Given the description of an element on the screen output the (x, y) to click on. 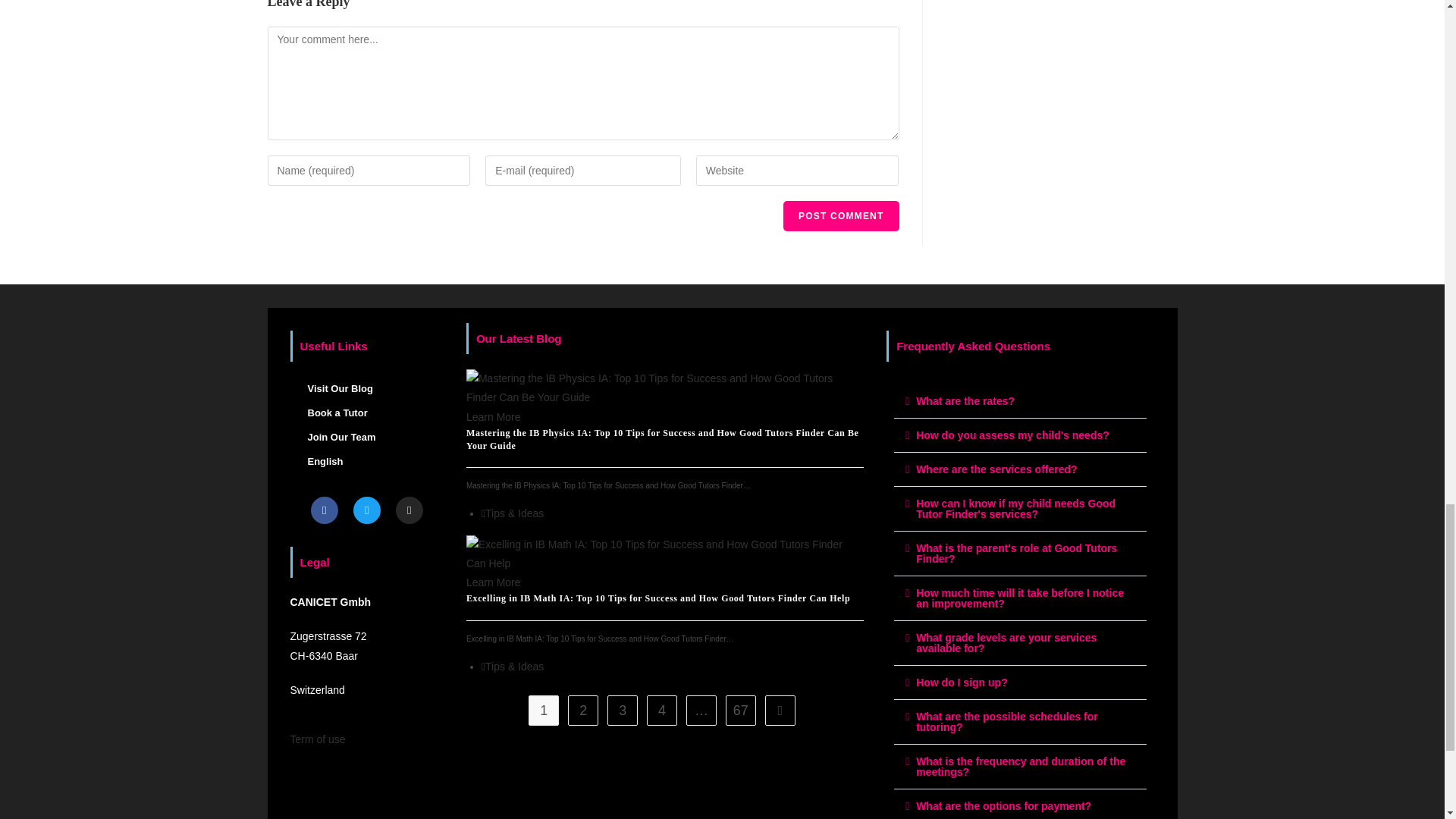
Post Comment (840, 215)
Visit Our Blog (365, 388)
Post Comment (840, 215)
